Given the description of an element on the screen output the (x, y) to click on. 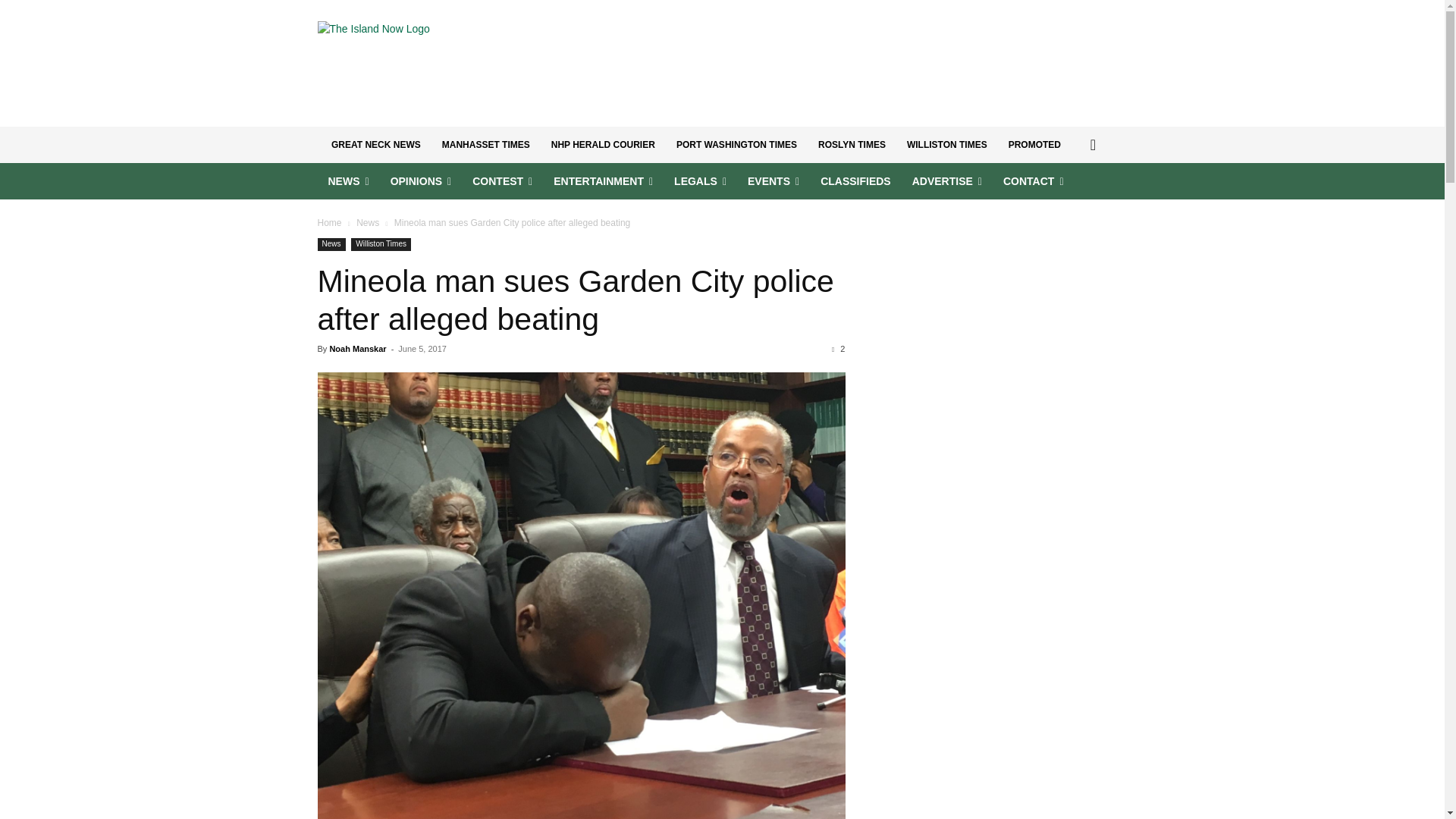
Mineola man sues Garden City police after alleged beating (574, 299)
Posts by Noah Manskar (357, 347)
View all posts in News (367, 222)
